Given the description of an element on the screen output the (x, y) to click on. 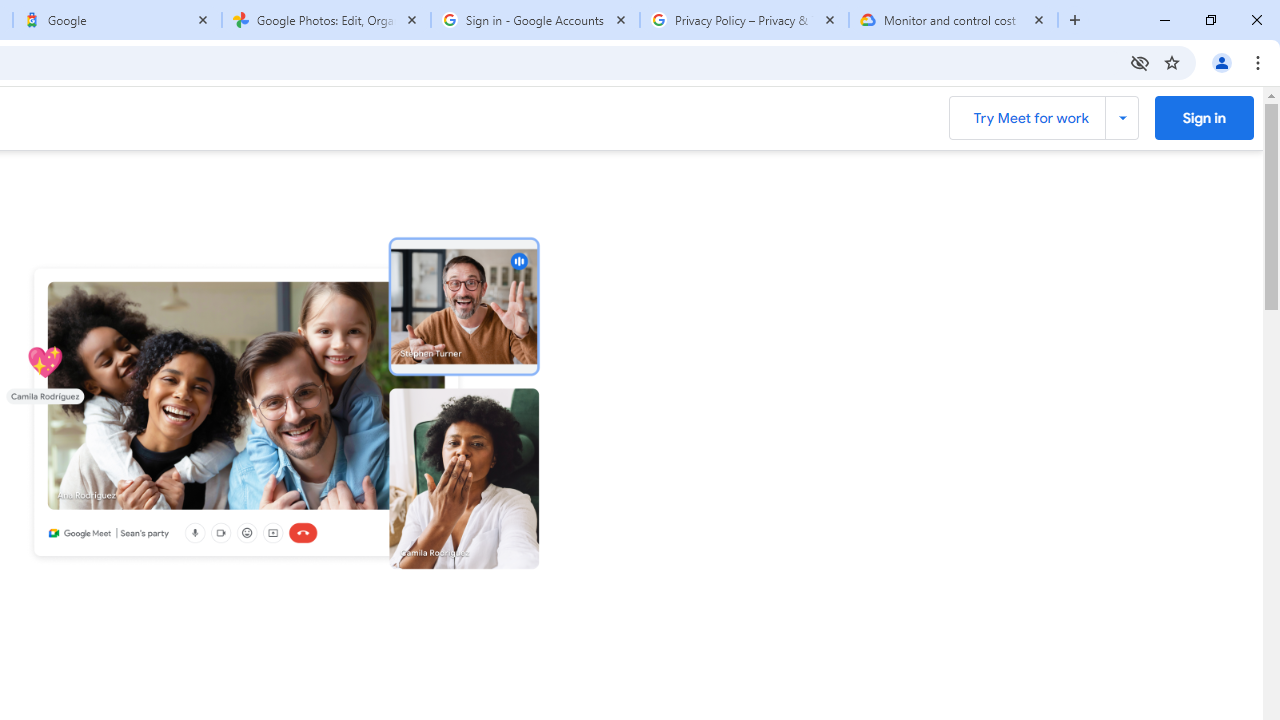
Sign into Google Meet  (1204, 117)
